Given the description of an element on the screen output the (x, y) to click on. 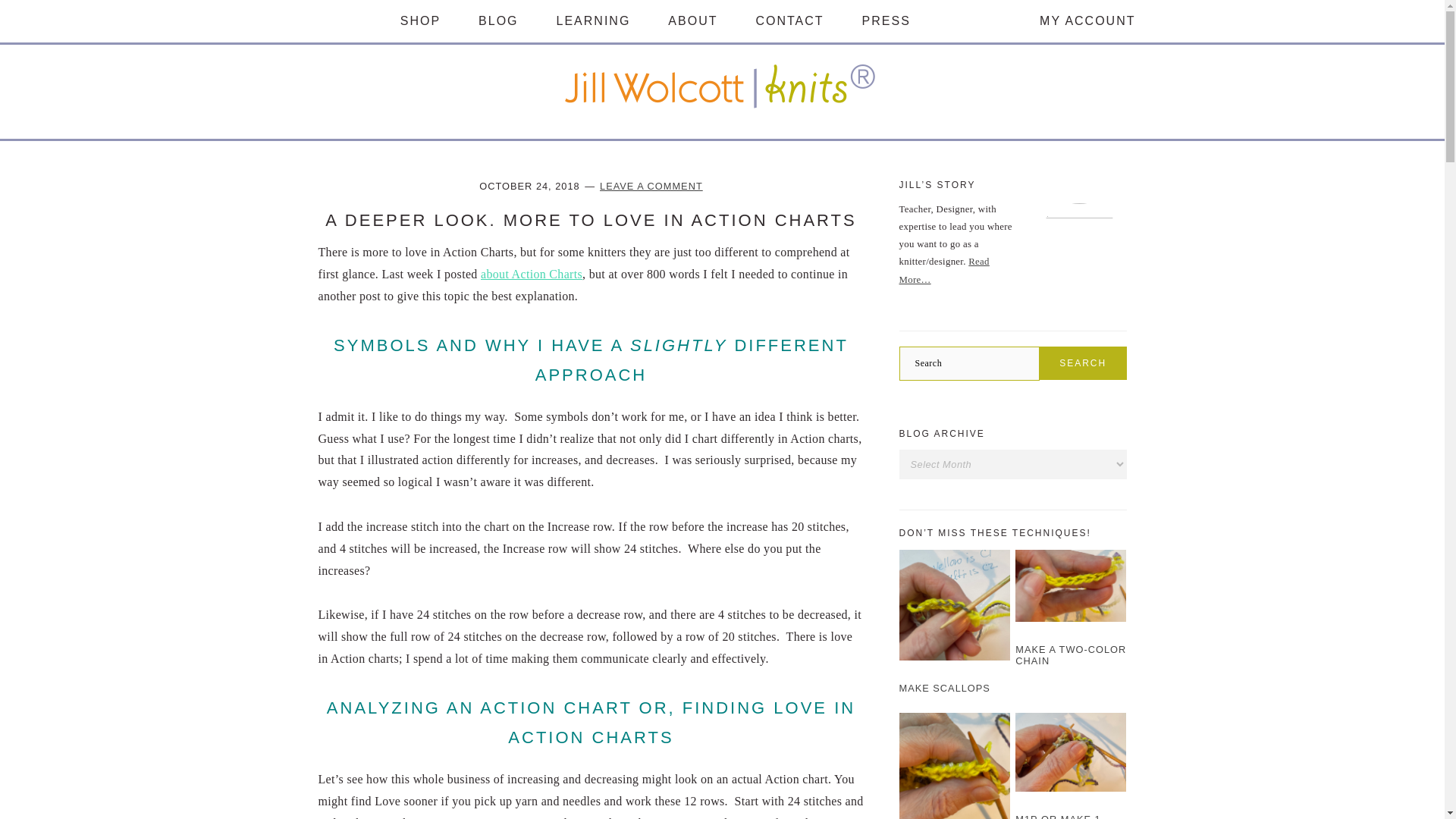
MY ACCOUNT (1087, 21)
Make Scallops (954, 656)
LEARNING (593, 21)
Search (1082, 363)
BLOG (498, 21)
Make Scallops (944, 687)
Search (1082, 363)
PRESS (886, 21)
CONTACT (789, 21)
SHOP (420, 21)
Jill Wolcott Knits (721, 106)
Jill Wolcott Knits (721, 87)
ABOUT (692, 21)
